Given the description of an element on the screen output the (x, y) to click on. 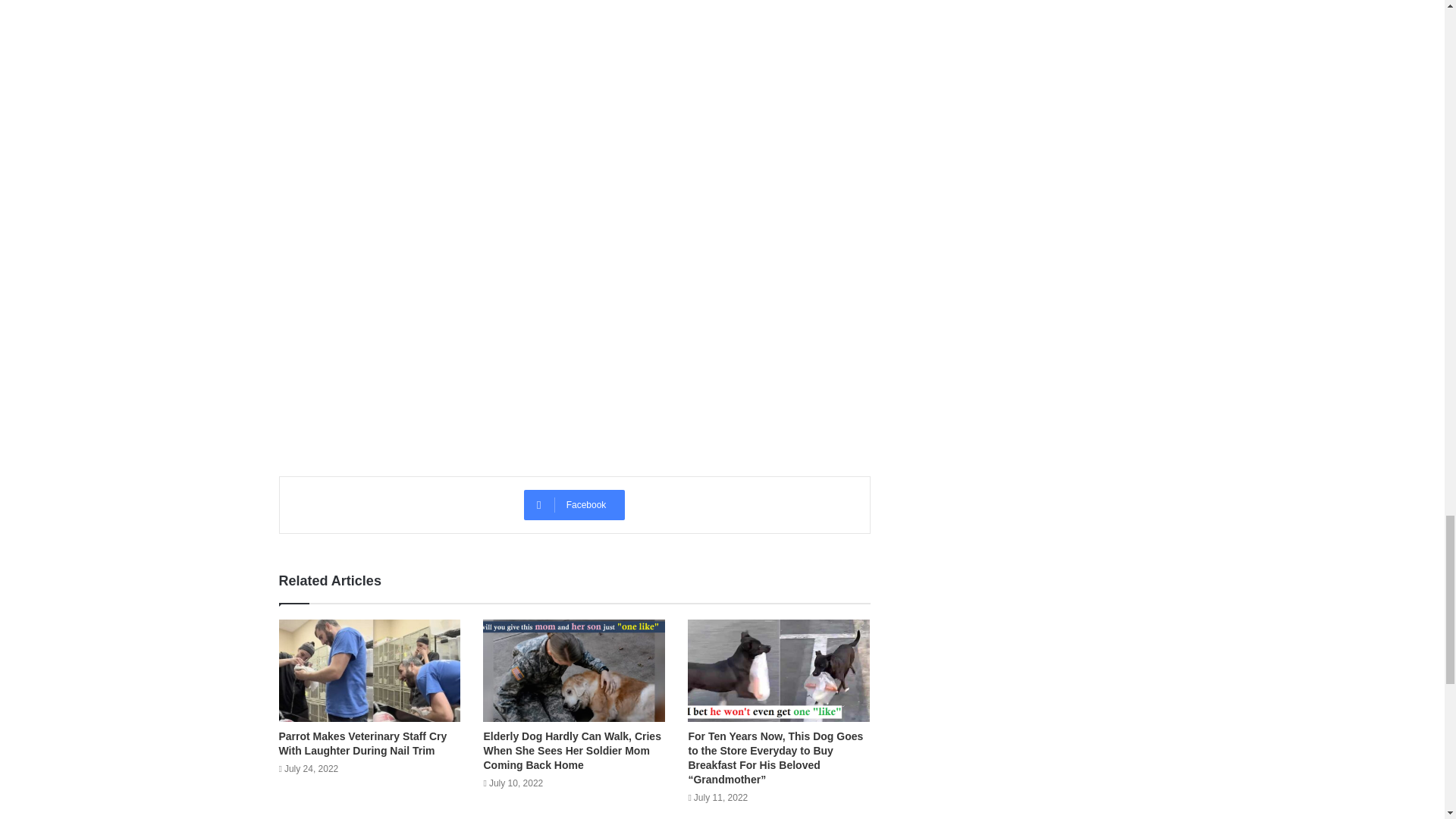
Facebook (575, 504)
Facebook (575, 504)
Advertisement (574, 341)
